Given the description of an element on the screen output the (x, y) to click on. 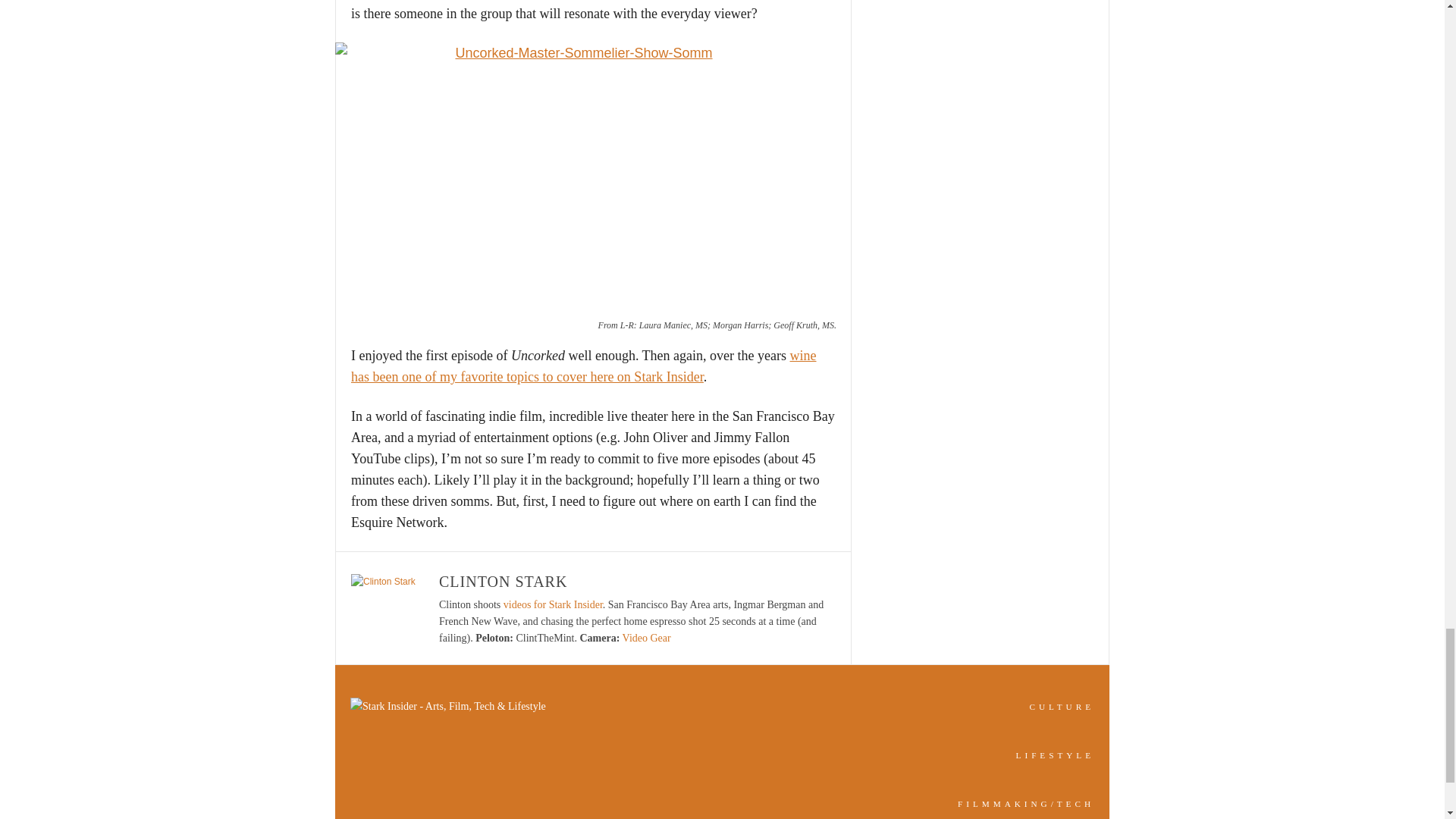
videos for Stark Insider (552, 604)
Video Gear (647, 637)
CLINTON STARK (503, 581)
LIFESTYLE (1055, 755)
CULTURE (1061, 706)
